Given the description of an element on the screen output the (x, y) to click on. 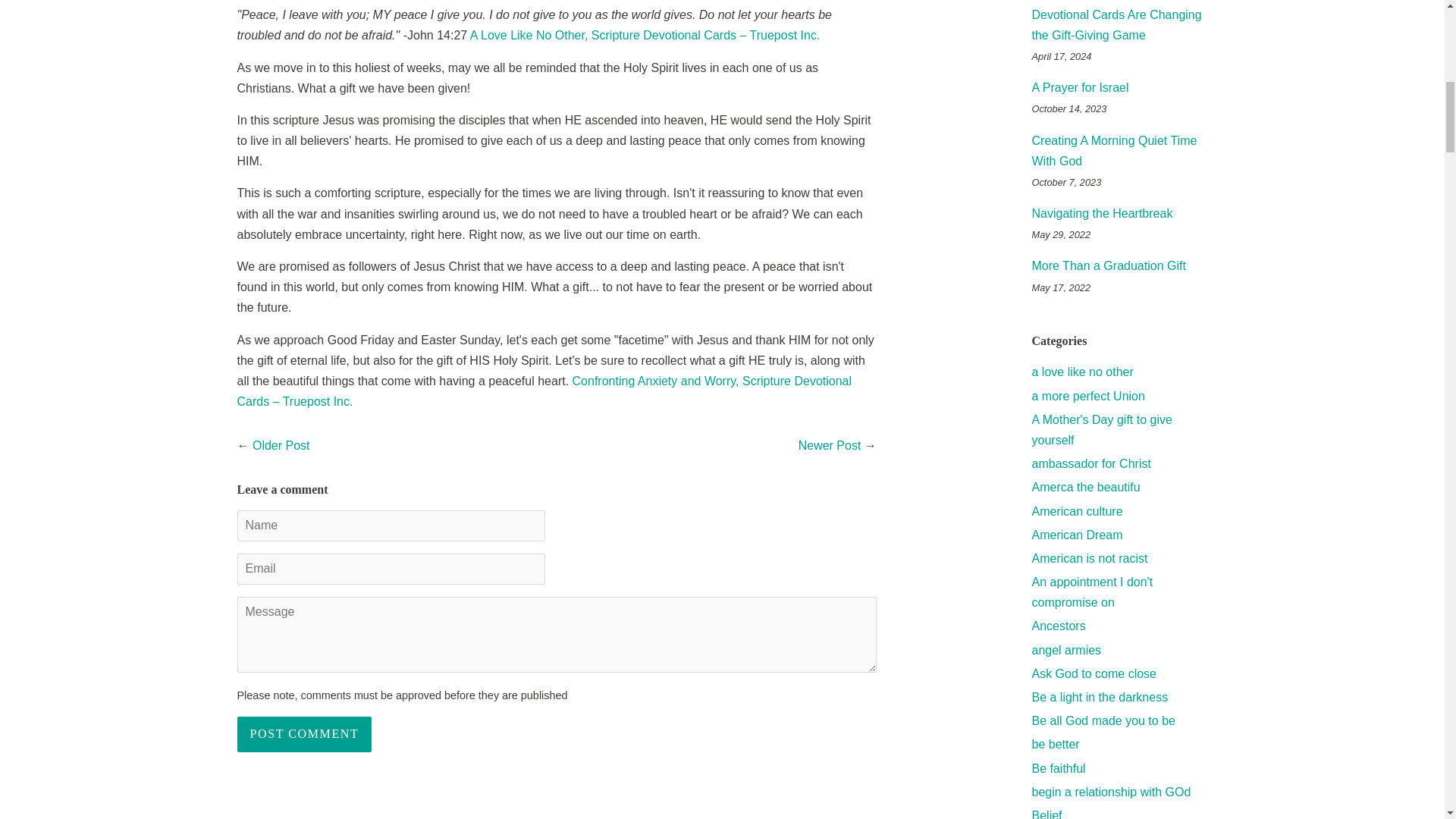
Show articles tagged Amerca the beautifu (1085, 486)
Show articles tagged ambassador for Christ (1090, 463)
Show articles tagged a love like no other (1081, 371)
Show articles tagged Ask God to come close (1093, 673)
Show articles tagged American is not racist (1088, 558)
Show articles tagged An appointment I don't compromise on (1091, 592)
Show articles tagged a more perfect Union (1087, 395)
Show articles tagged American Dream (1076, 534)
Show articles tagged Ancestors (1057, 625)
Show articles tagged A Mother's Day gift to give yourself (1101, 429)
Show articles tagged angel armies (1065, 649)
Show articles tagged American culture (1076, 511)
Post comment (303, 734)
A Love Like Now Other (645, 34)
